Given the description of an element on the screen output the (x, y) to click on. 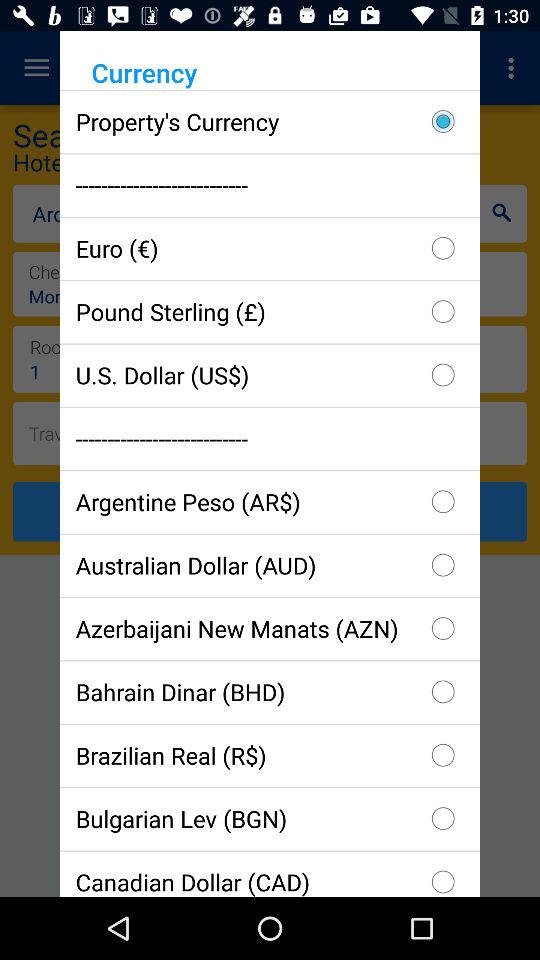
open item below the bulgarian lev (bgn) item (270, 873)
